Given the description of an element on the screen output the (x, y) to click on. 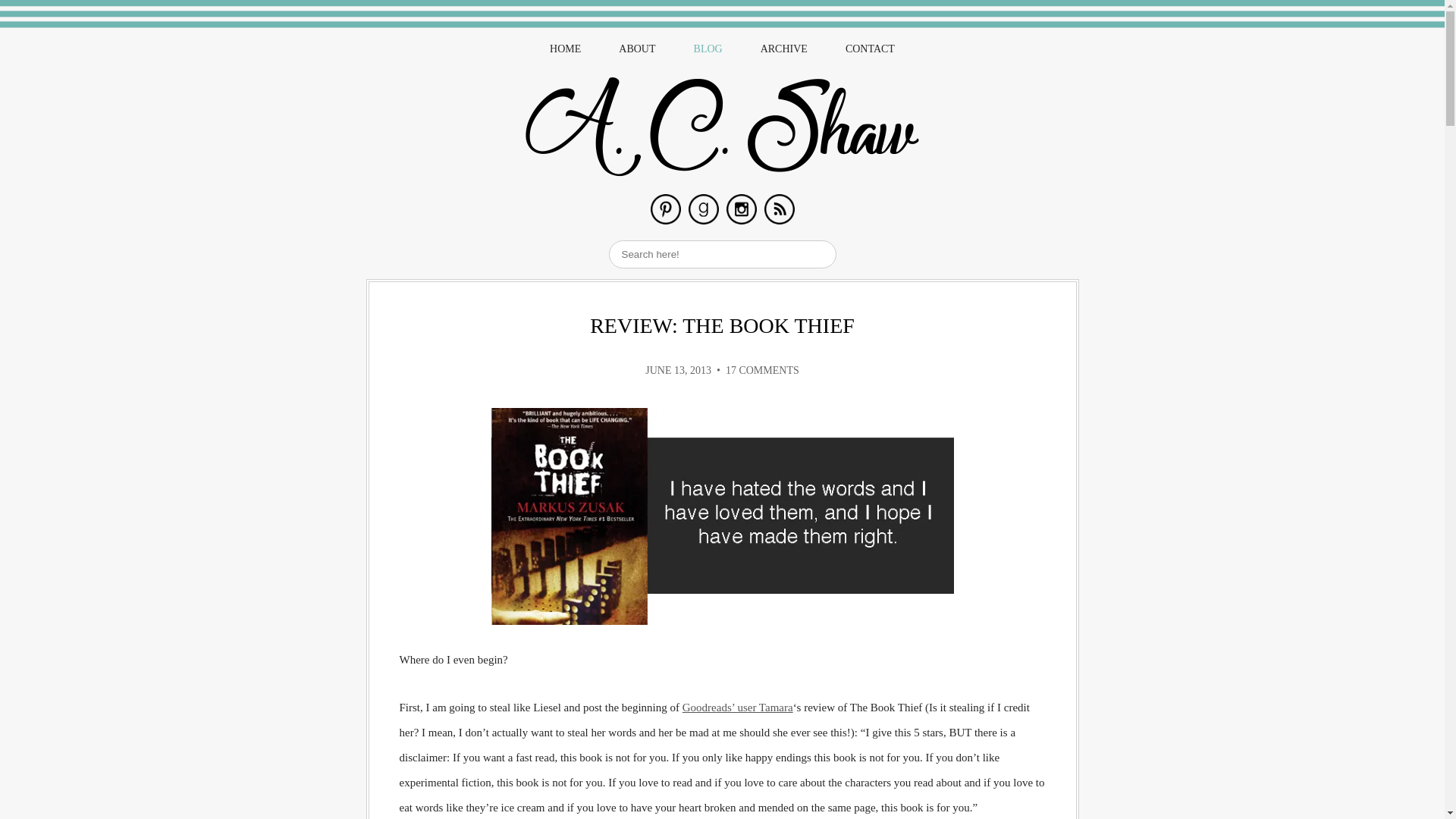
Instagram (741, 209)
HOME (565, 49)
Goodreads (703, 209)
BLOG (708, 49)
ARCHIVE (784, 49)
ABOUT (636, 49)
17 COMMENTS (762, 369)
RSS (779, 209)
Pinterest (665, 209)
CONTACT (870, 49)
